Given the description of an element on the screen output the (x, y) to click on. 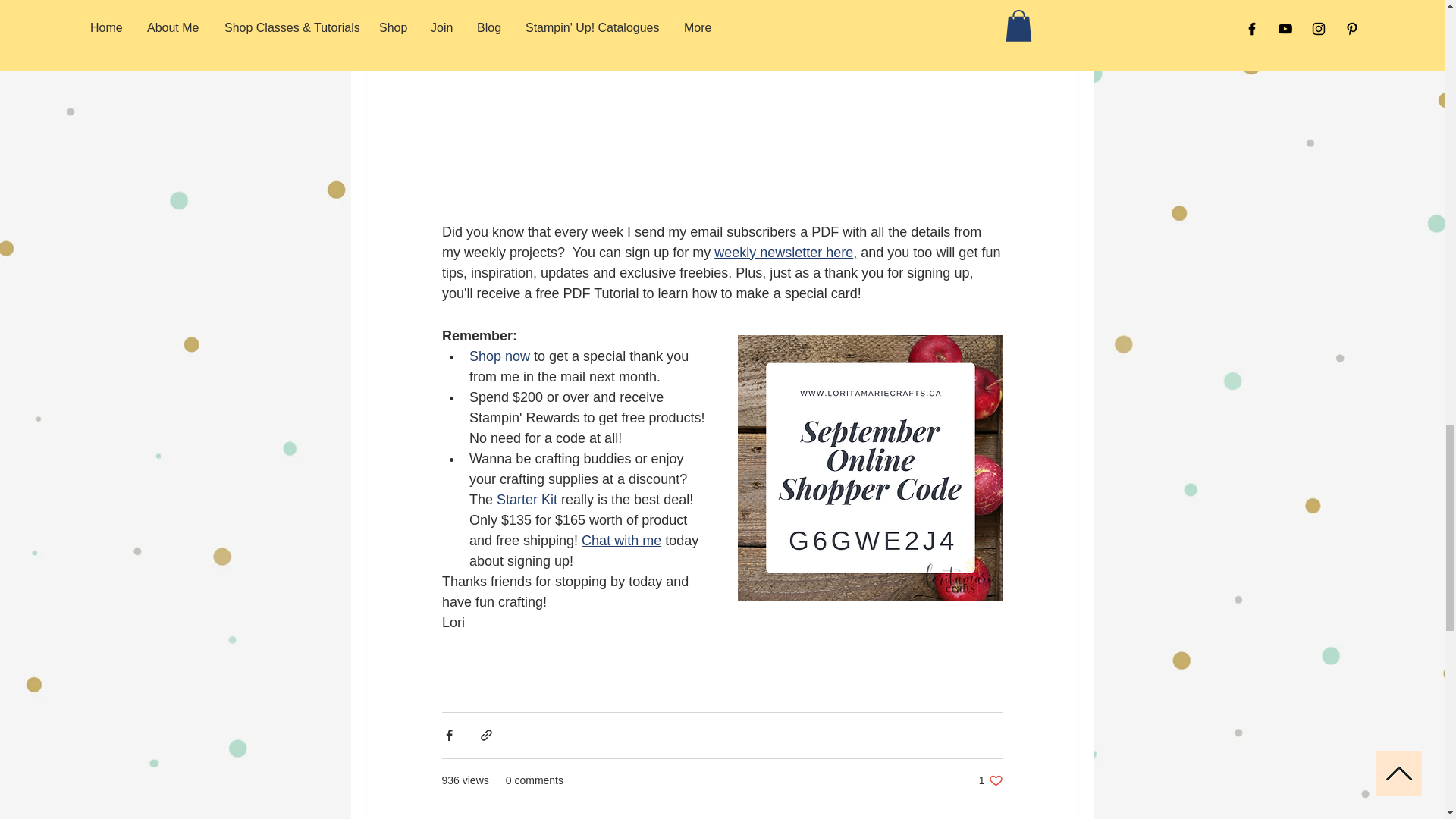
Starter Kit (526, 499)
Shop now (990, 780)
weekly newsletter here (498, 355)
Chat with me (783, 252)
